Given the description of an element on the screen output the (x, y) to click on. 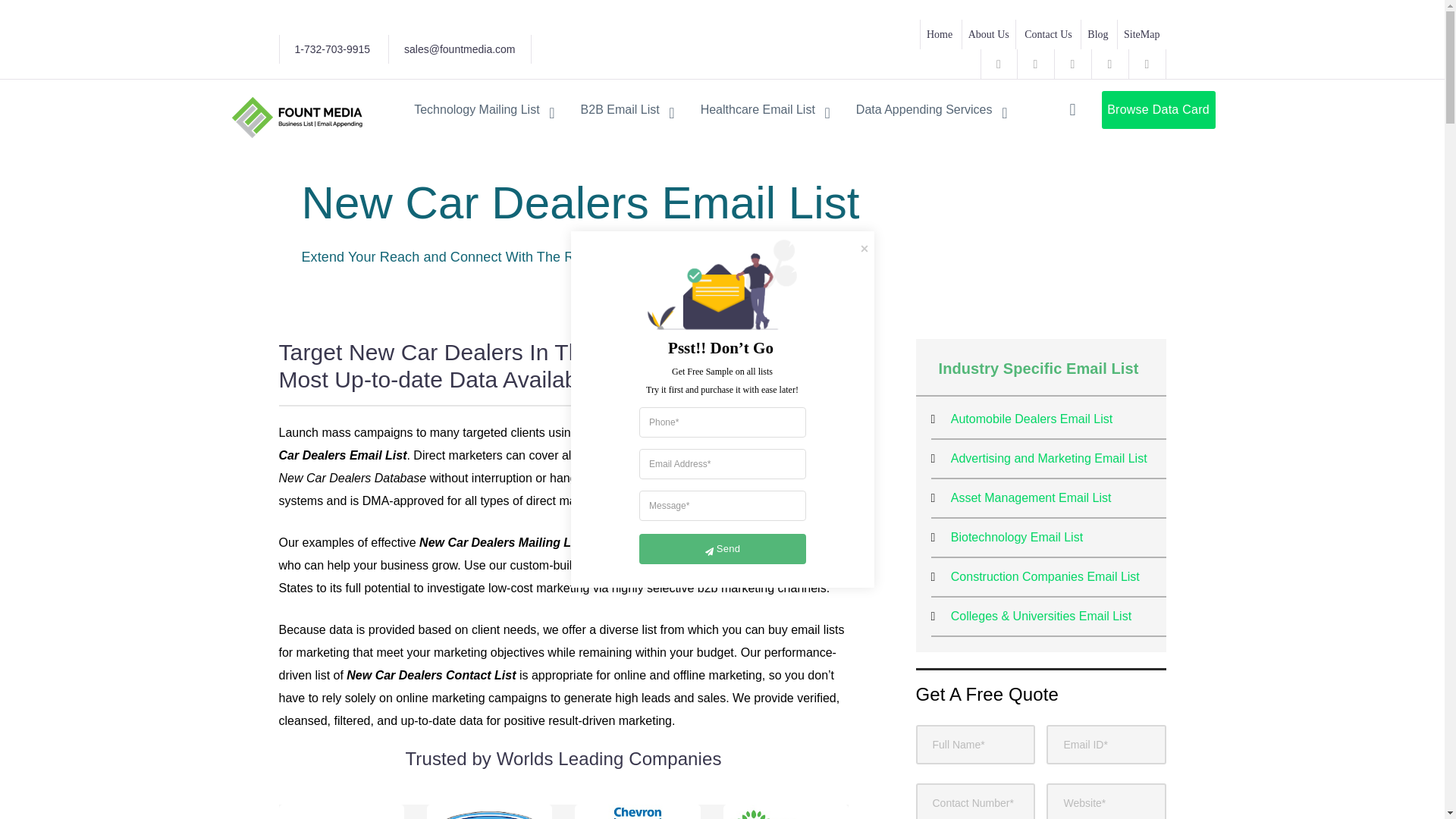
LinkedIn (1147, 63)
B2B Email List (627, 109)
Contact Us (1047, 34)
About Us (988, 34)
Instagram (1072, 63)
1-732-703-9915 (331, 48)
Pinterest Profile (1110, 63)
Home (939, 34)
LinkedIn Profile (1147, 63)
Youtube Profile (1035, 63)
Instagram Profile (1072, 63)
Facebook (997, 63)
Pinterest (1110, 63)
Blog (1097, 34)
Youtube (1035, 63)
